Given the description of an element on the screen output the (x, y) to click on. 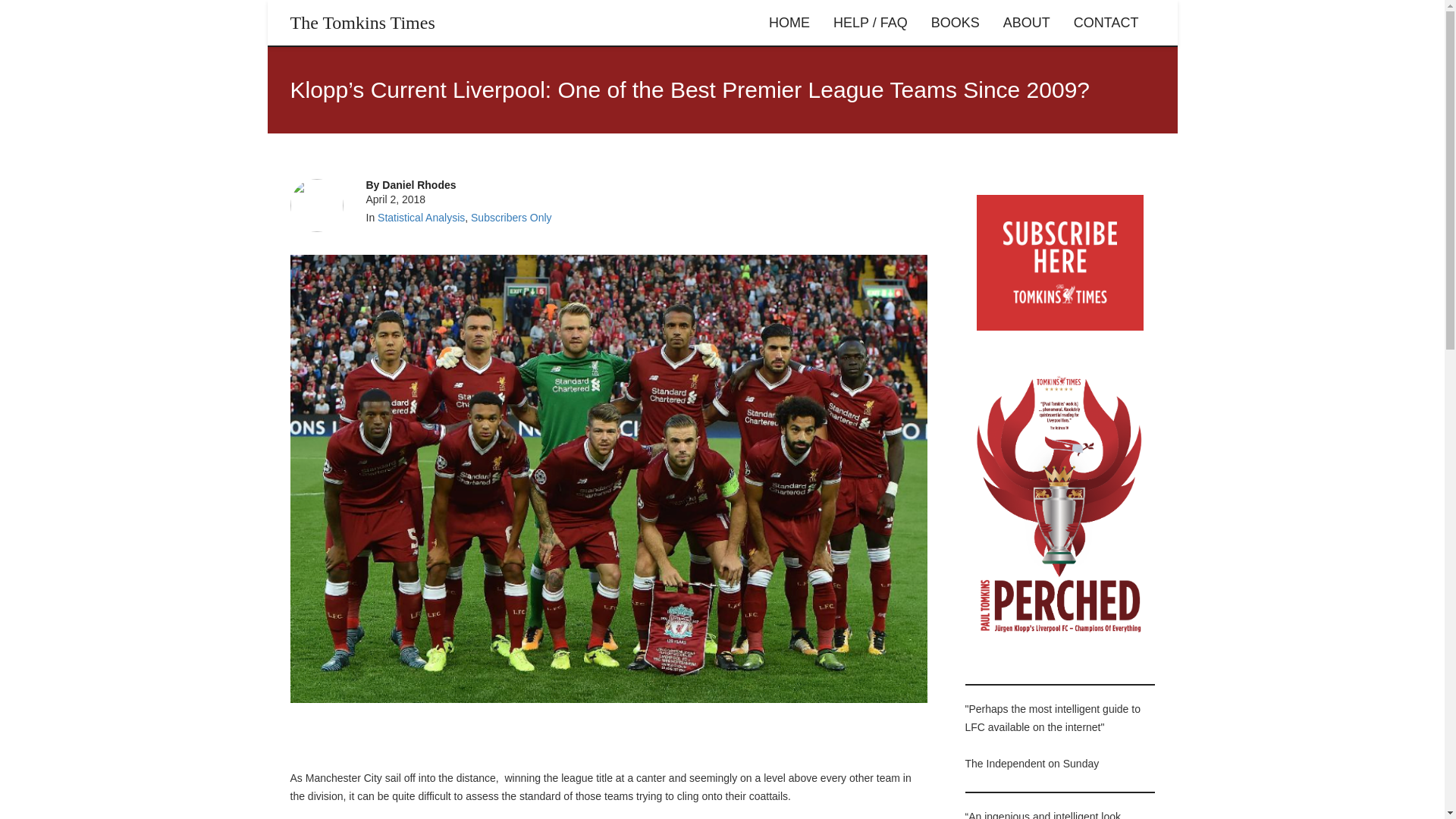
Statistical Analysis (420, 217)
Daniel Rhodes (418, 184)
HOME (789, 22)
ABOUT (1026, 22)
The Tomkins Times (361, 22)
BOOKS (955, 22)
Subscribers Only (510, 217)
CONTACT (1106, 22)
